Given the description of an element on the screen output the (x, y) to click on. 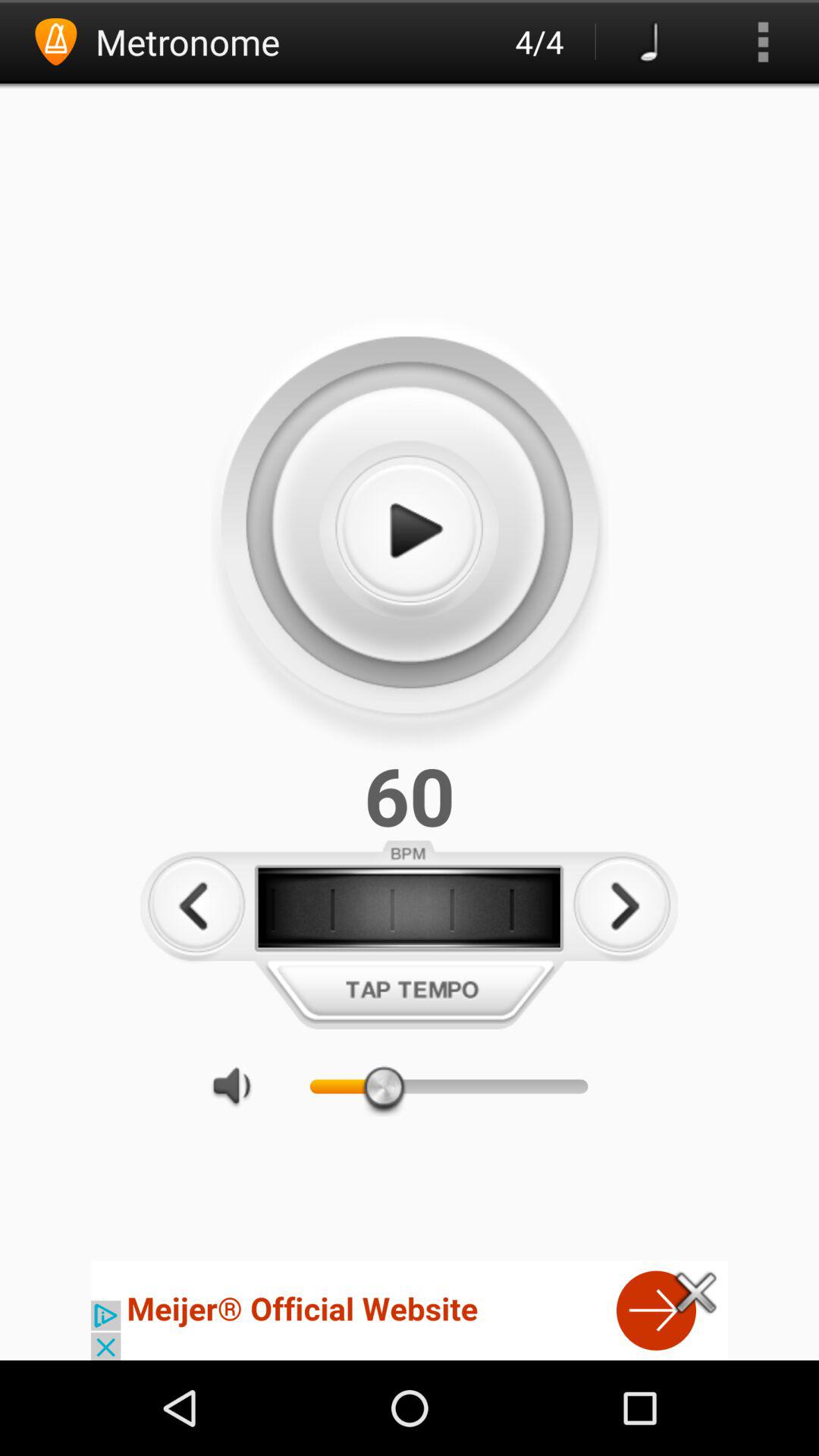
mute (239, 1085)
